Given the description of an element on the screen output the (x, y) to click on. 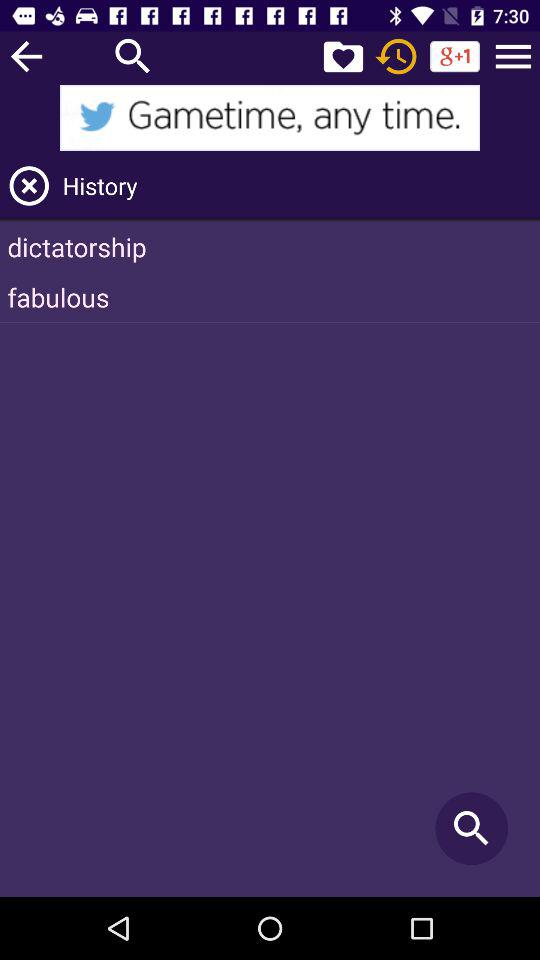
recents (396, 56)
